Given the description of an element on the screen output the (x, y) to click on. 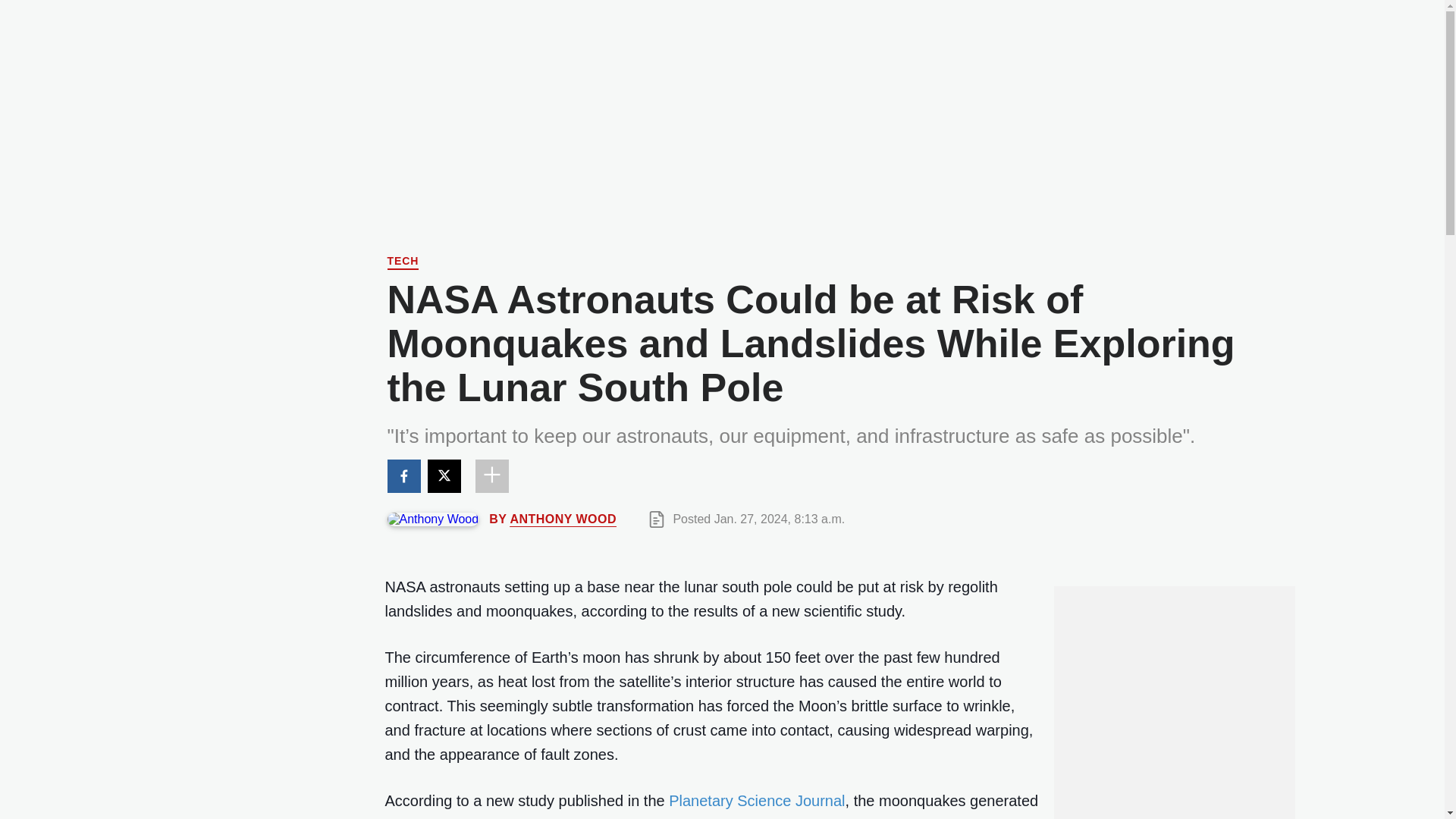
ANTHONY WOOD (562, 518)
TECH (403, 262)
Tech (403, 262)
